Given the description of an element on the screen output the (x, y) to click on. 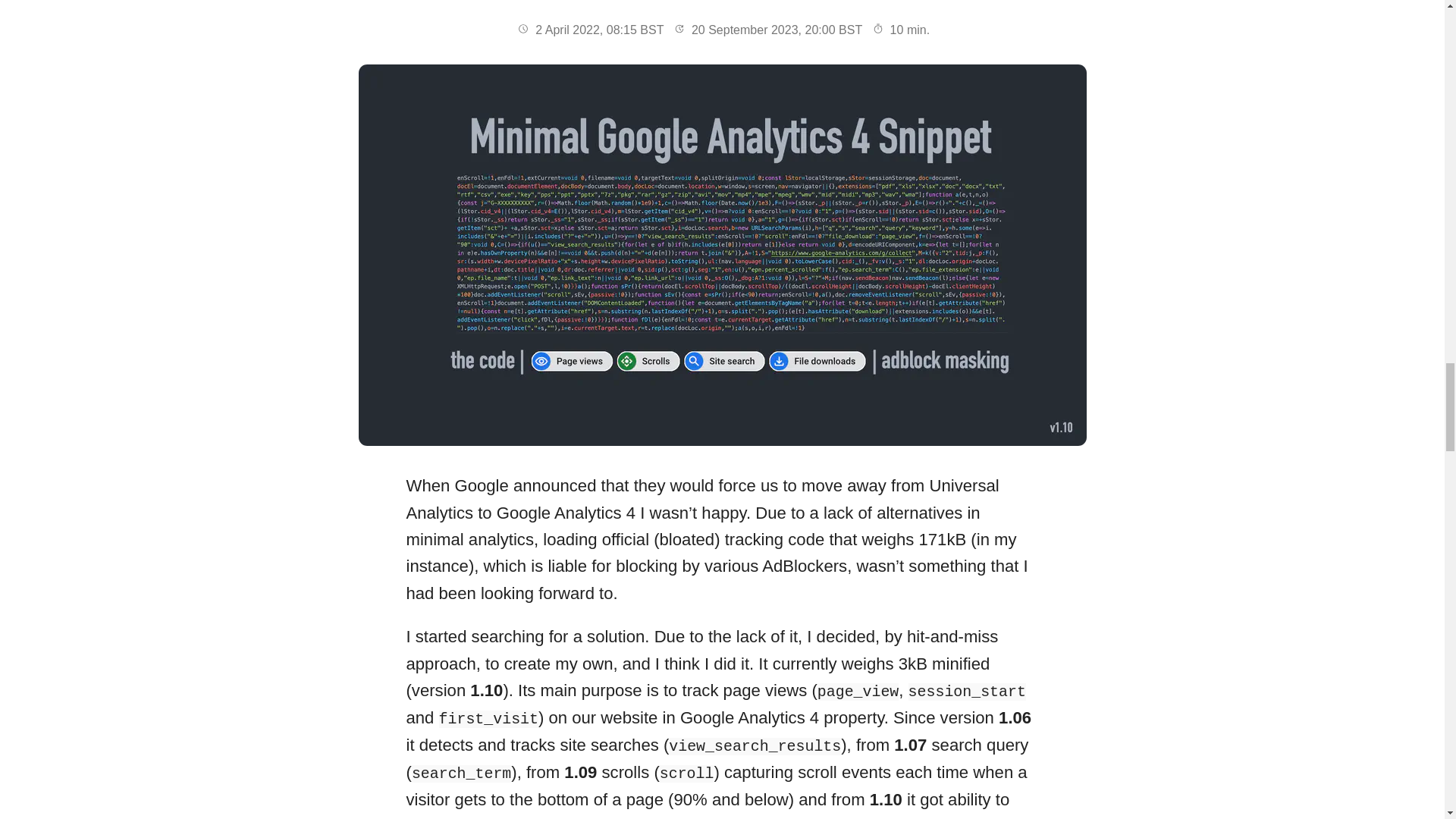
Updated (679, 28)
